Given the description of an element on the screen output the (x, y) to click on. 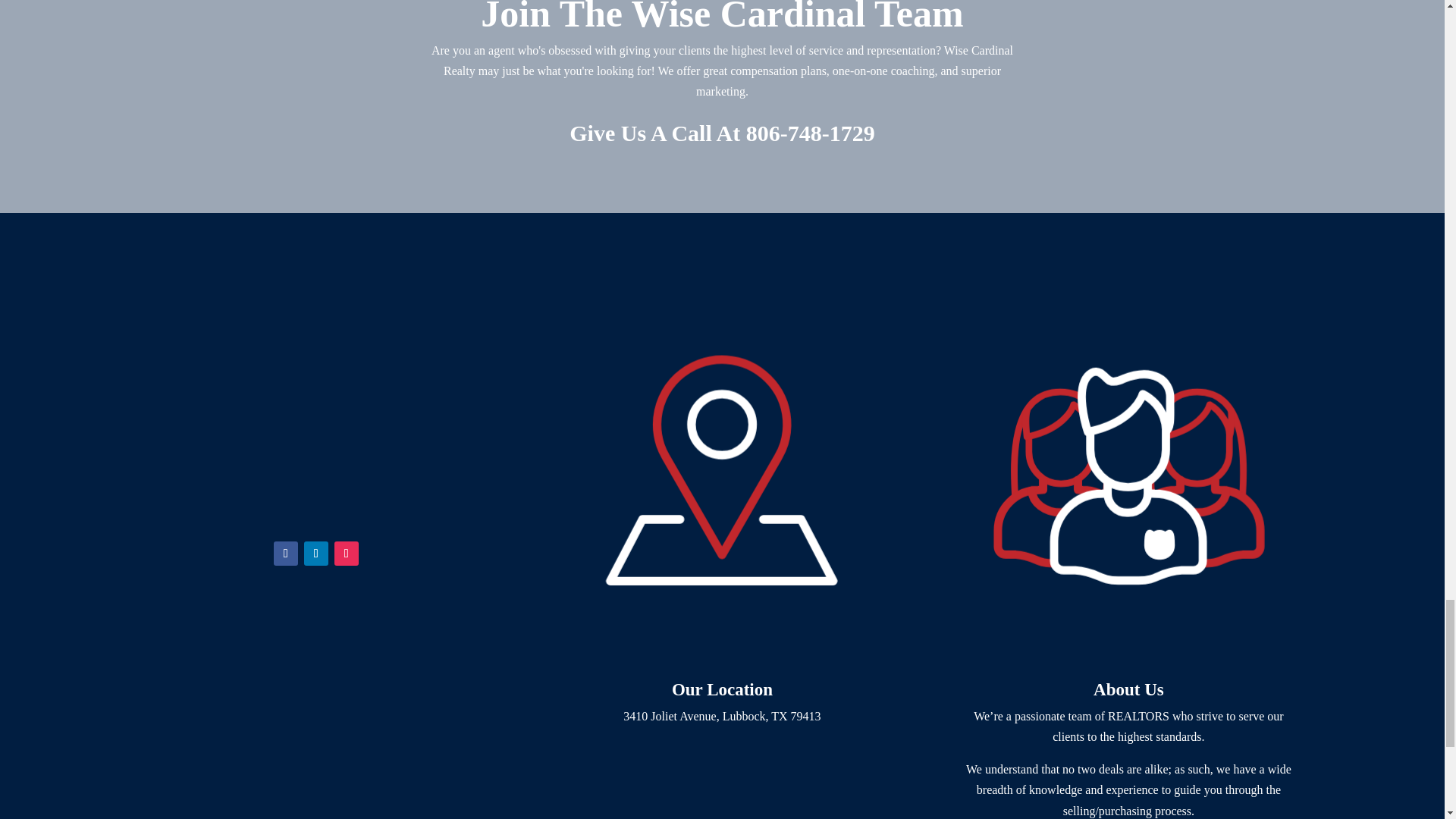
Follow on Instagram (346, 553)
Follow on LinkedIn (316, 553)
Follow on Facebook (285, 553)
